Given the description of an element on the screen output the (x, y) to click on. 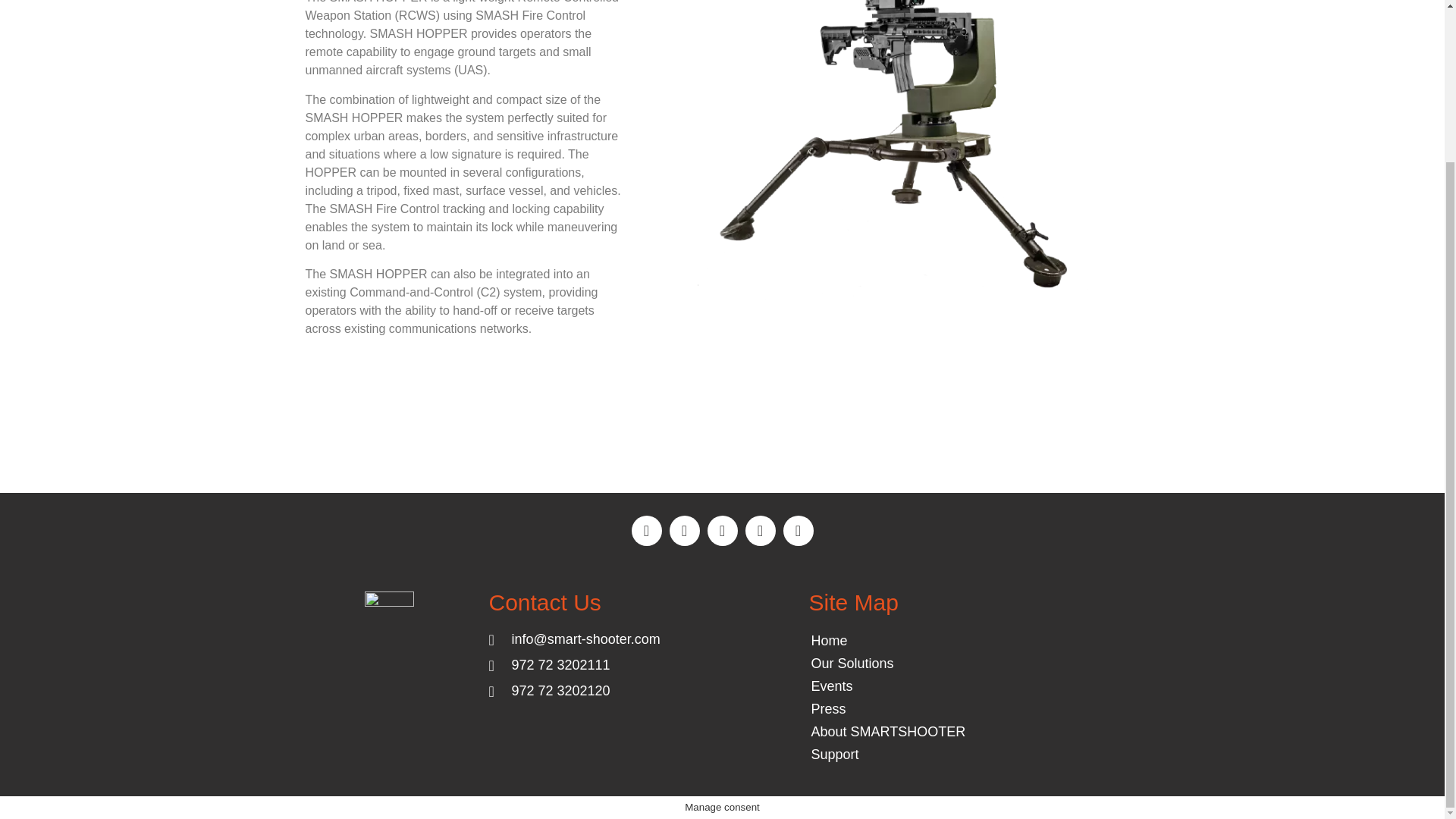
About SMARTSHOOTER (909, 731)
Events (909, 685)
Our Solutions (909, 662)
Press (909, 708)
Home (909, 640)
Support (909, 753)
972 72 3202111 (606, 665)
